Given the description of an element on the screen output the (x, y) to click on. 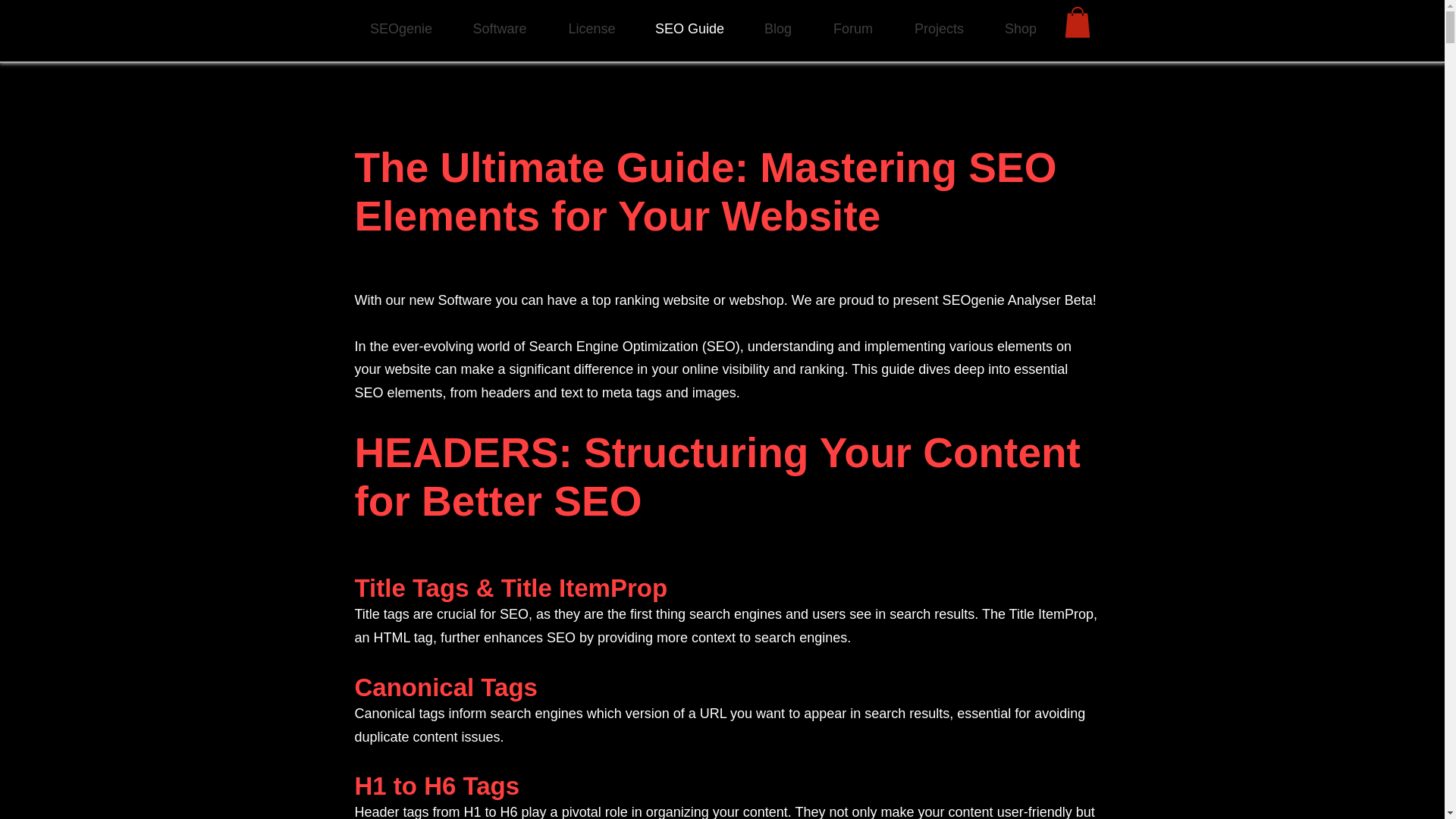
Software (499, 28)
Shop (1020, 28)
SEO Guide (688, 28)
SEOgenie (400, 28)
Forum (852, 28)
Blog (777, 28)
Projects (938, 28)
License (590, 28)
